Given the description of an element on the screen output the (x, y) to click on. 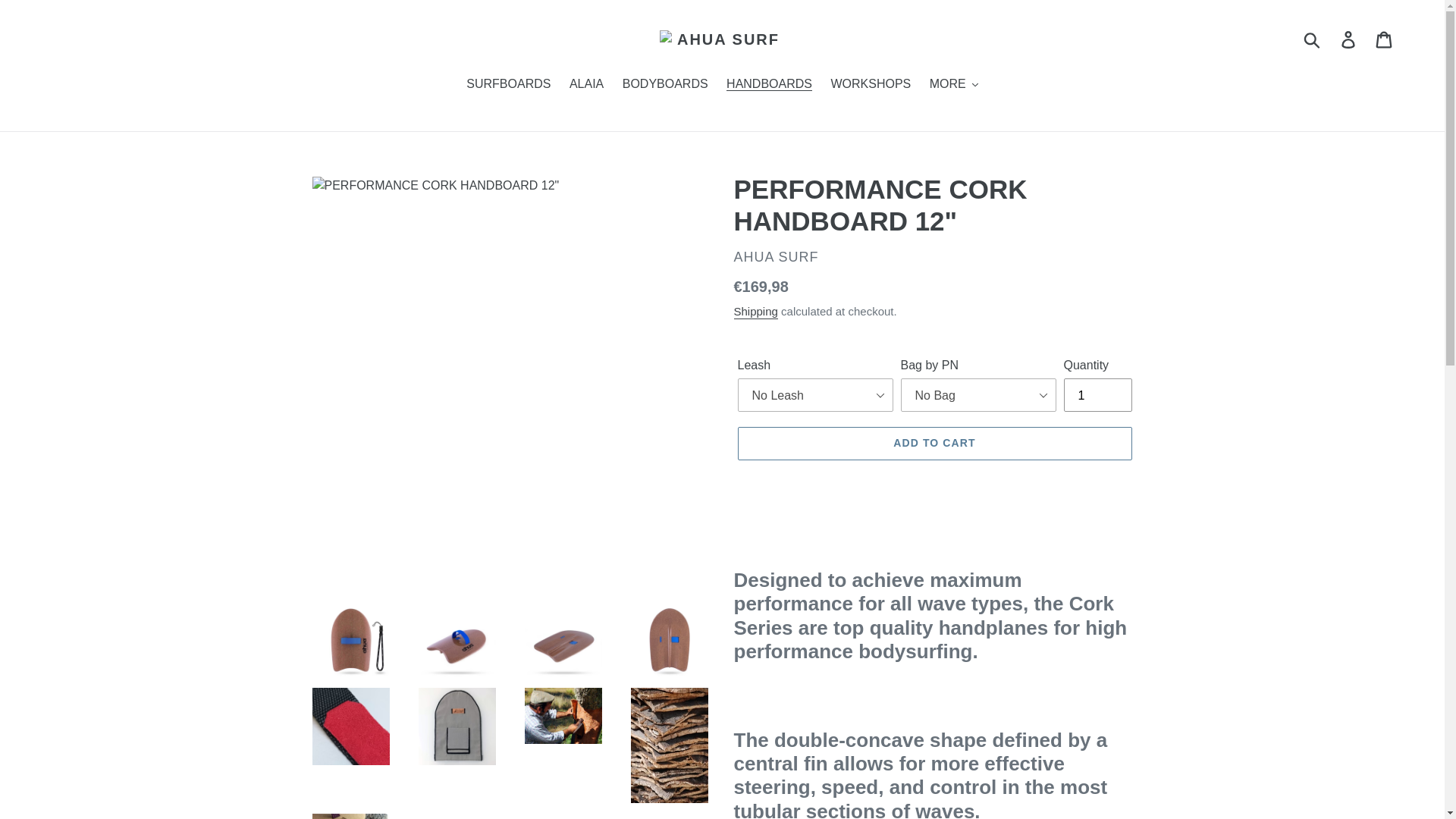
Submit (1313, 39)
SURFBOARDS (507, 85)
Cart (1385, 39)
HANDBOARDS (769, 85)
BODYBOARDS (665, 85)
Log in (1349, 39)
1 (1096, 394)
ALAIA (586, 85)
WORKSHOPS (870, 85)
